Given the description of an element on the screen output the (x, y) to click on. 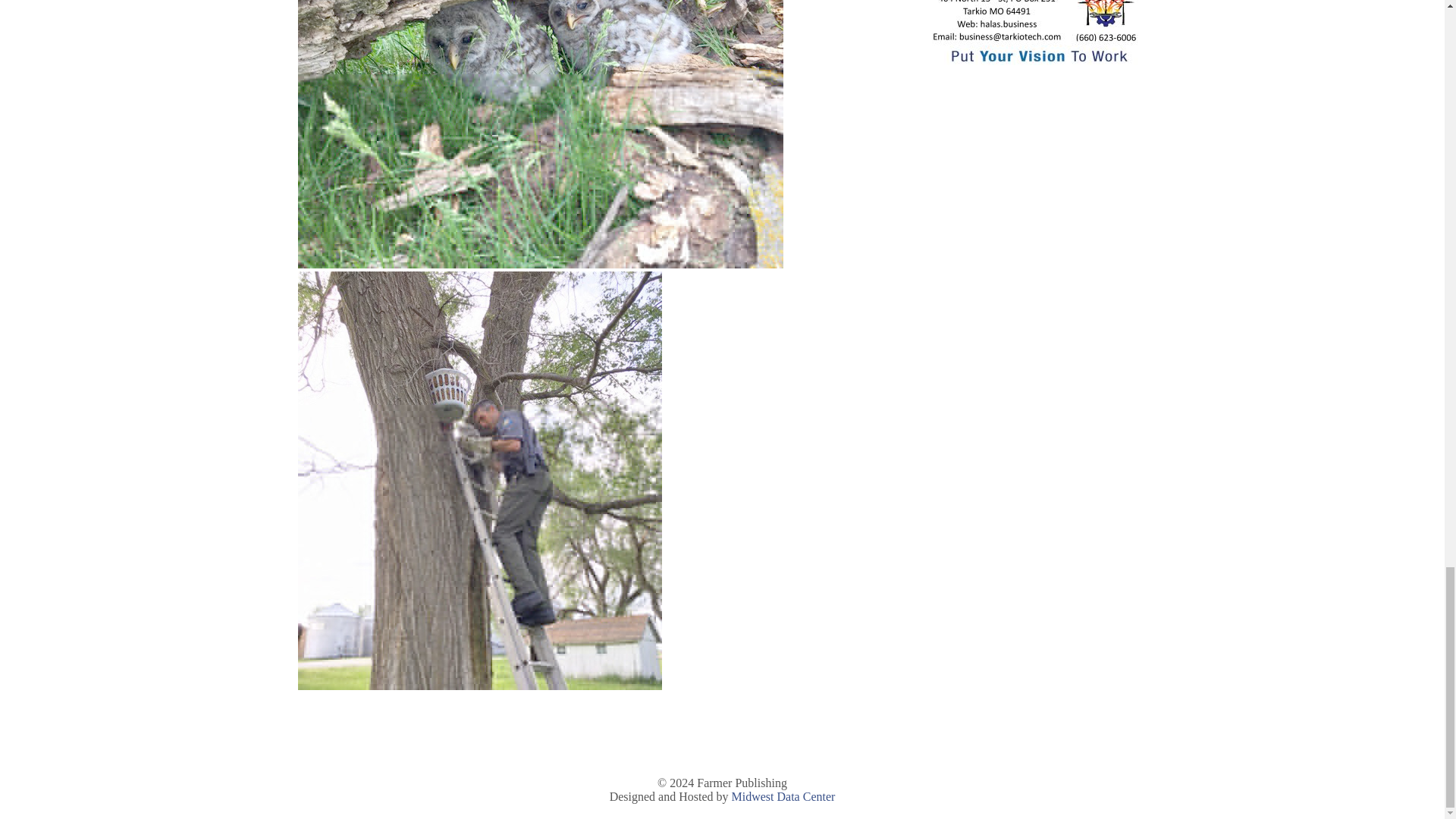
Farmer Publishing (742, 782)
Midwest Data Center (782, 796)
Designed and Hosted by (671, 796)
